Given the description of an element on the screen output the (x, y) to click on. 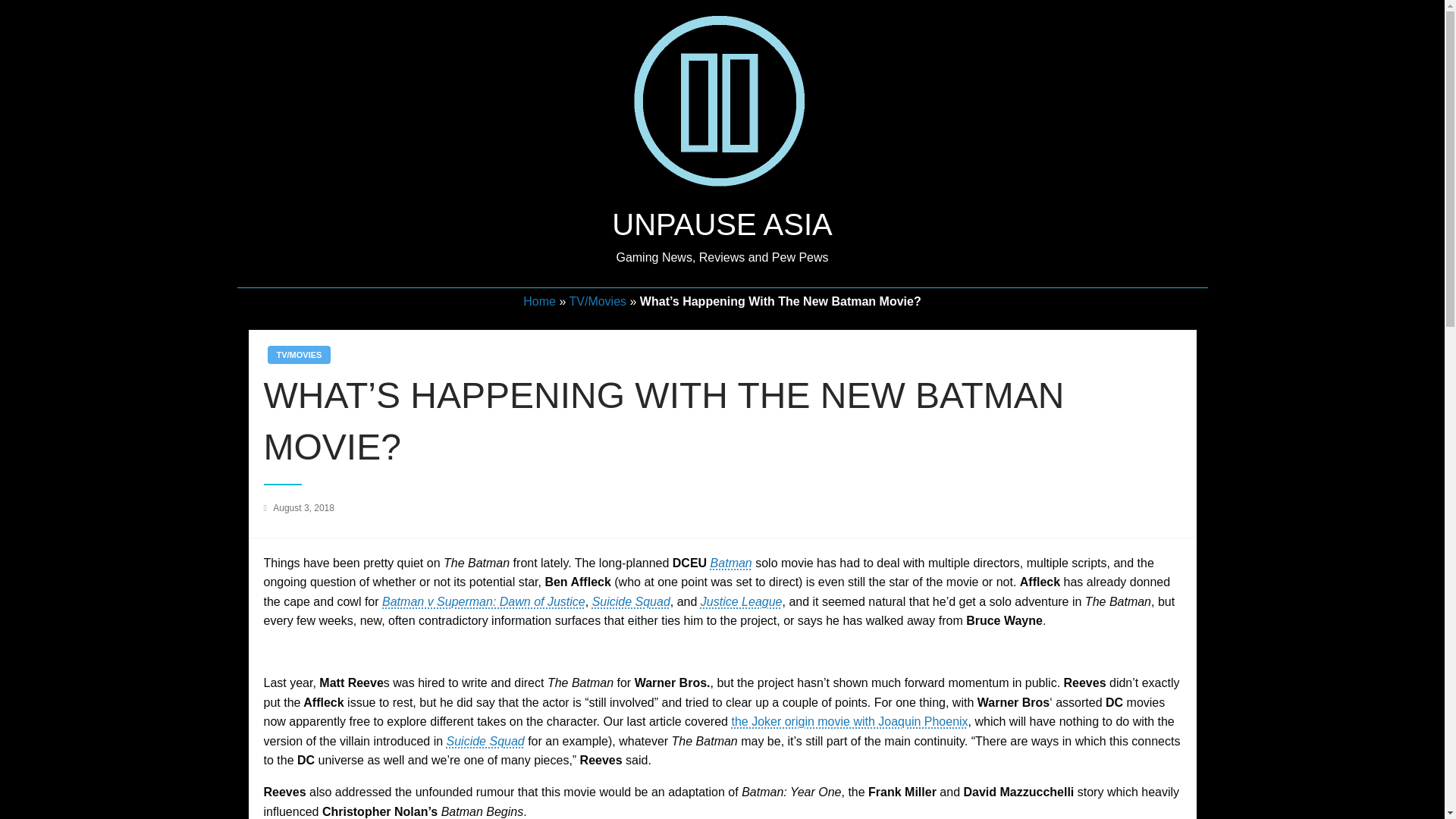
August 3, 2018 (303, 507)
Batman v Superman: Dawn of Justice (483, 601)
Justice League (741, 601)
Suicide Squad (630, 601)
The Joker Movie: Everything We Know (849, 721)
Suicide Squad (485, 740)
UNPAUSE ASIA (721, 224)
Batman (731, 562)
the Joker origin movie with Joaquin Phoenix (849, 721)
Home (539, 300)
